Given the description of an element on the screen output the (x, y) to click on. 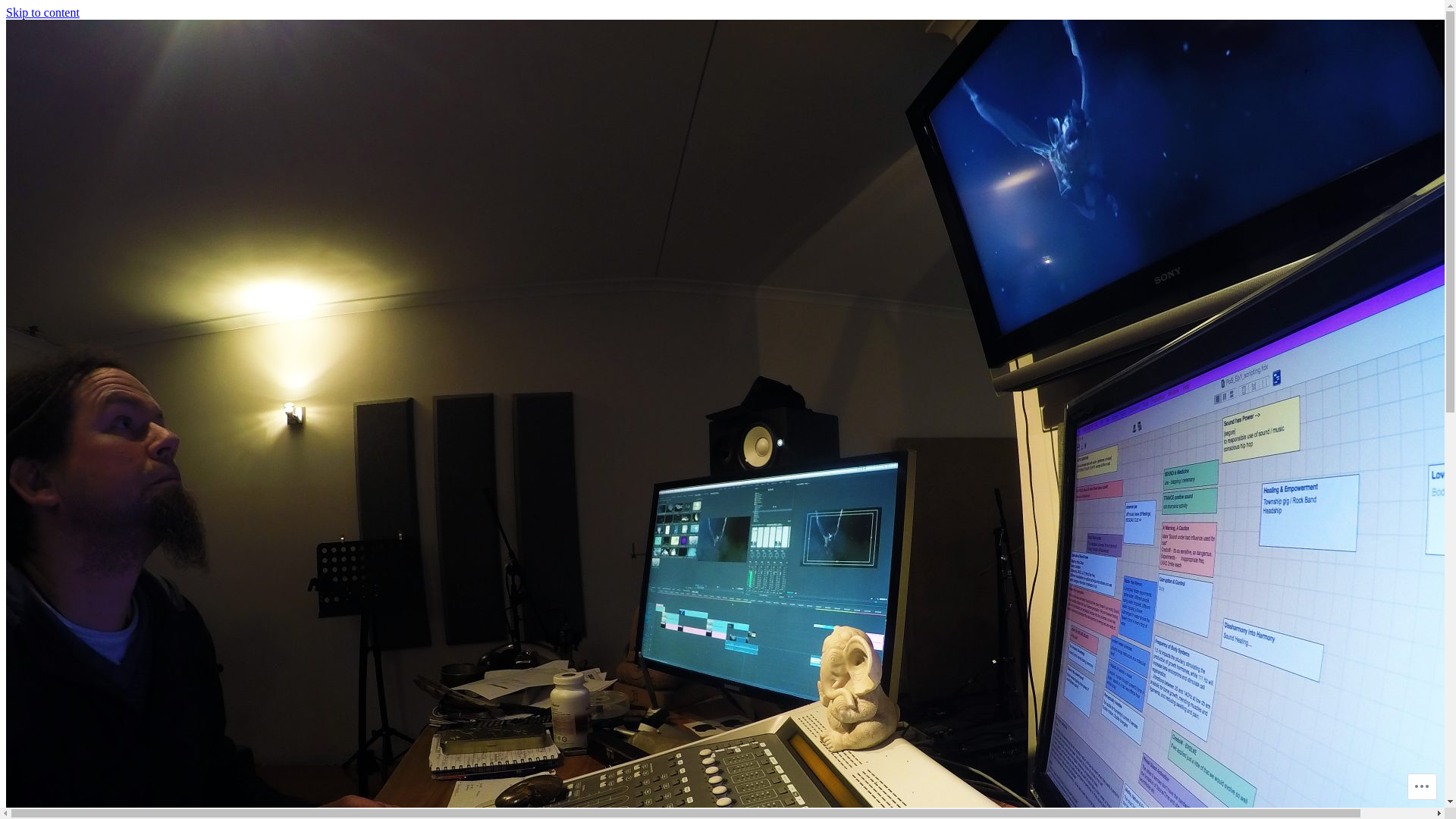
Skip to content Element type: text (42, 12)
